Given the description of an element on the screen output the (x, y) to click on. 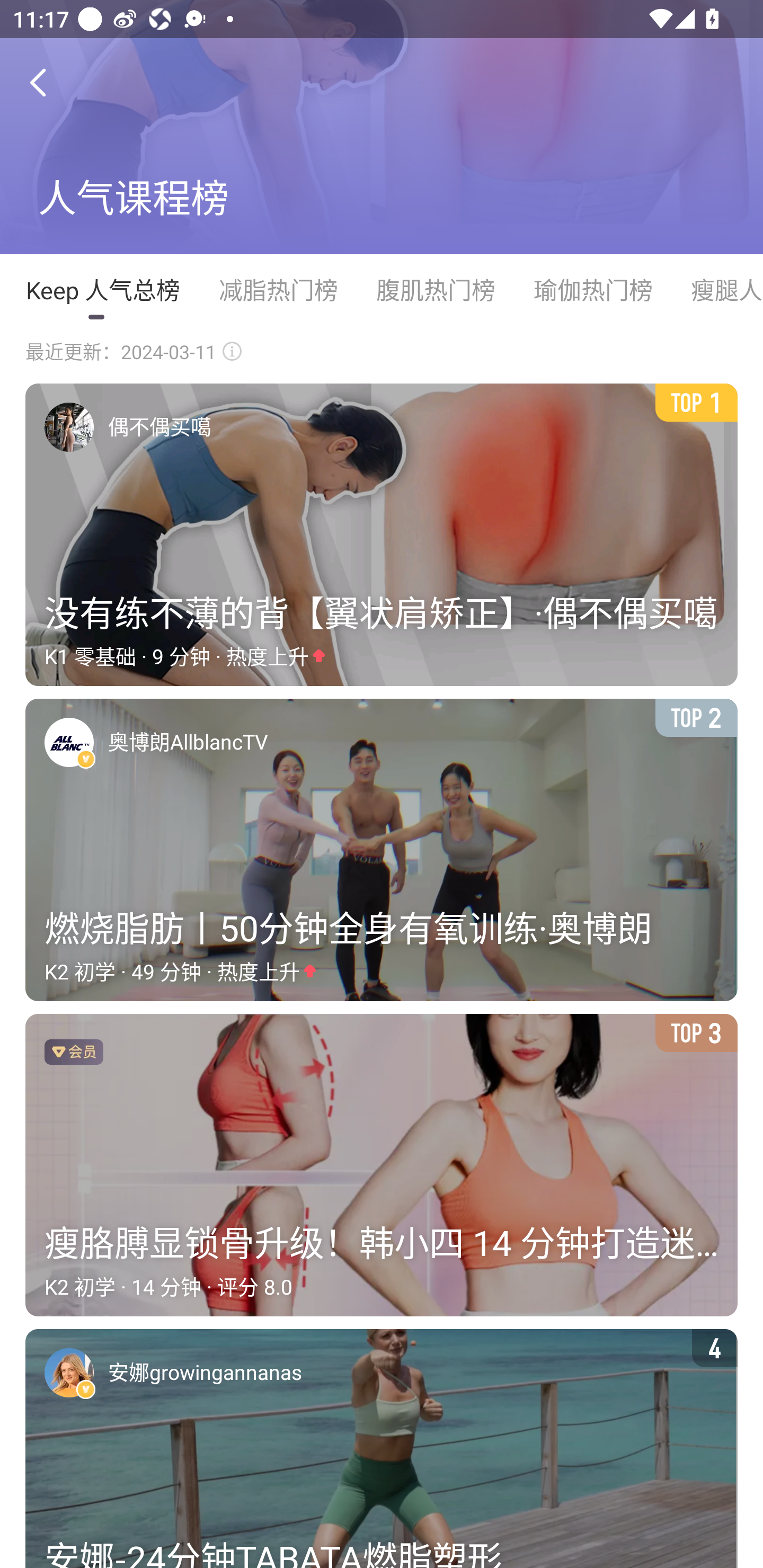
Left Button In Title Bar (50, 82)
Keep 人气总榜 (102, 290)
减脂热门榜 (277, 290)
腹肌热门榜 (435, 290)
瑜伽热门榜 (592, 290)
瘦腿人气榜 (717, 290)
最近更新：2024-03-11 (133, 351)
偶不偶买噶 没有练不薄的背【翼状肩矫正】·偶不偶买噶 K1 零基础 · 9 分钟 · 热度上升 (381, 535)
瘦胳膊显锁骨升级！韩小四 14 分钟打造迷人肩臂 K2 初学 · 14 分钟 · 评分 8.0 (381, 1165)
安娜growingannanas 安娜-24分钟TABATA燃脂塑形 (381, 1448)
